Given the description of an element on the screen output the (x, y) to click on. 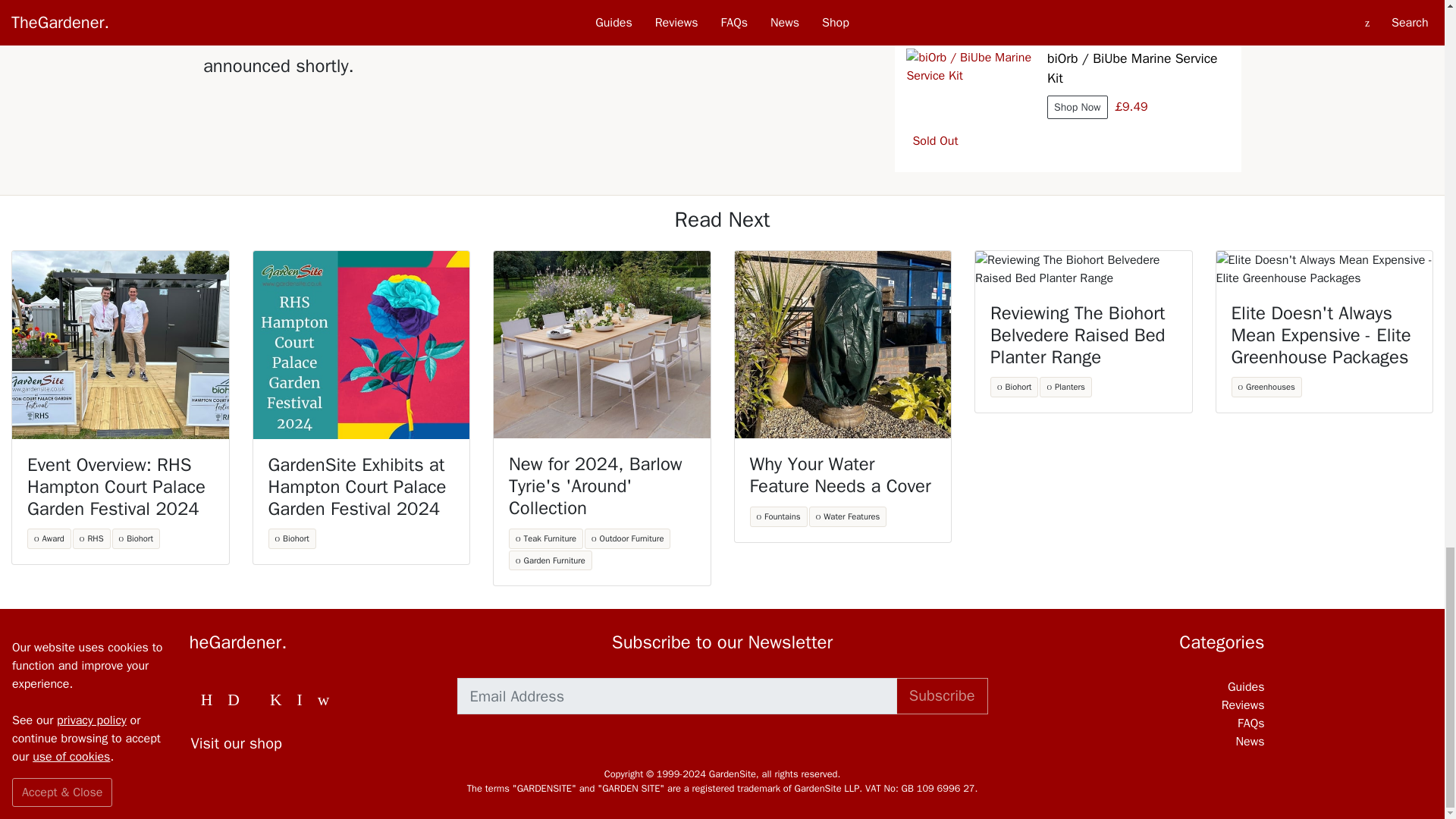
TheGardener. (306, 642)
Visit our shop (306, 743)
Subscribe (942, 696)
